Given the description of an element on the screen output the (x, y) to click on. 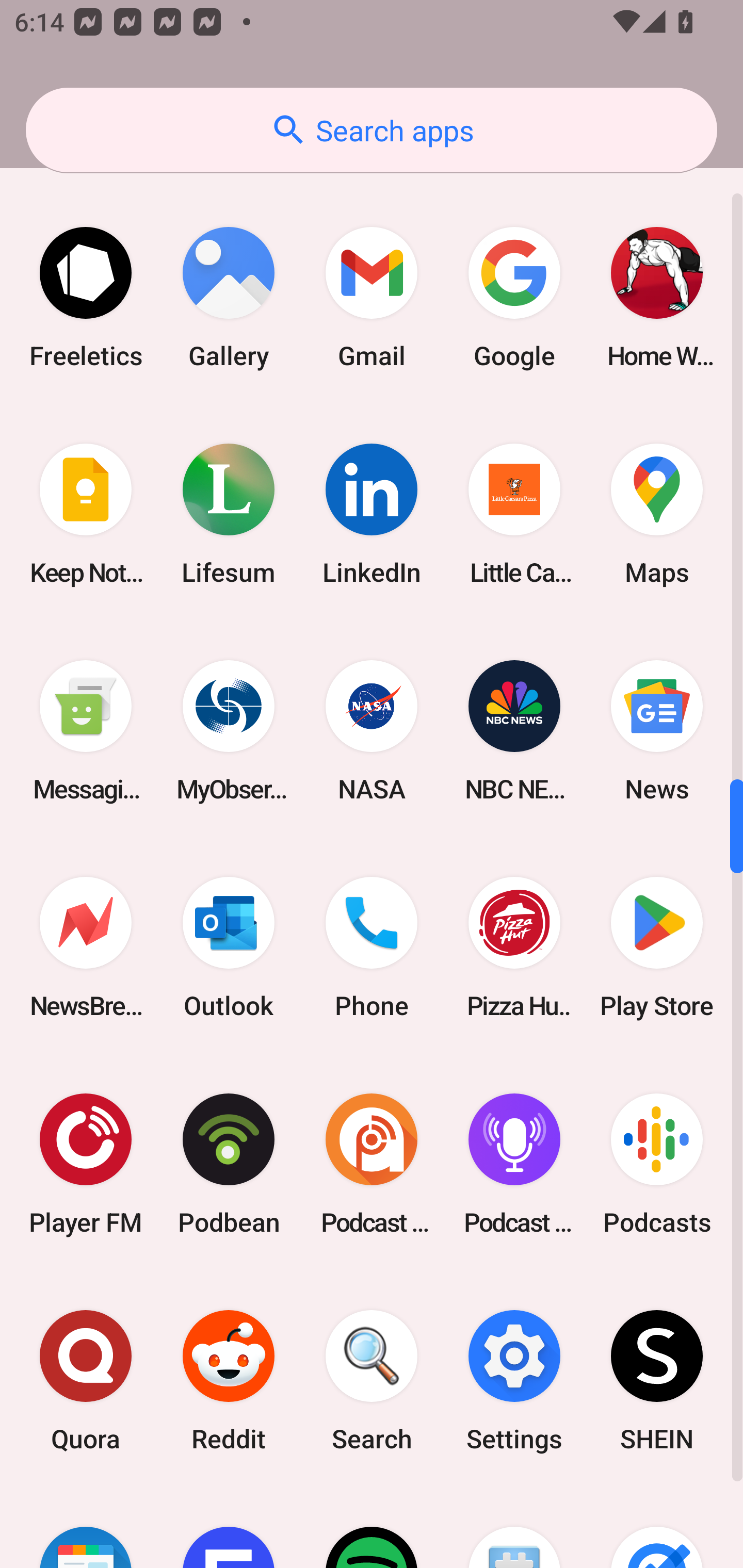
  Search apps (371, 130)
Freeletics (85, 297)
Gallery (228, 297)
Gmail (371, 297)
Google (514, 297)
Home Workout (656, 297)
Keep Notes (85, 514)
Lifesum (228, 514)
LinkedIn (371, 514)
Little Caesars Pizza (514, 514)
Maps (656, 514)
Messaging (85, 730)
MyObservatory (228, 730)
NASA (371, 730)
NBC NEWS (514, 730)
News (656, 730)
NewsBreak (85, 946)
Outlook (228, 946)
Phone (371, 946)
Pizza Hut HK & Macau (514, 946)
Play Store (656, 946)
Player FM (85, 1164)
Podbean (228, 1164)
Podcast Addict (371, 1164)
Podcast Player (514, 1164)
Podcasts (656, 1164)
Quora (85, 1381)
Reddit (228, 1381)
Search (371, 1381)
Settings (514, 1381)
SHEIN (656, 1381)
